Given the description of an element on the screen output the (x, y) to click on. 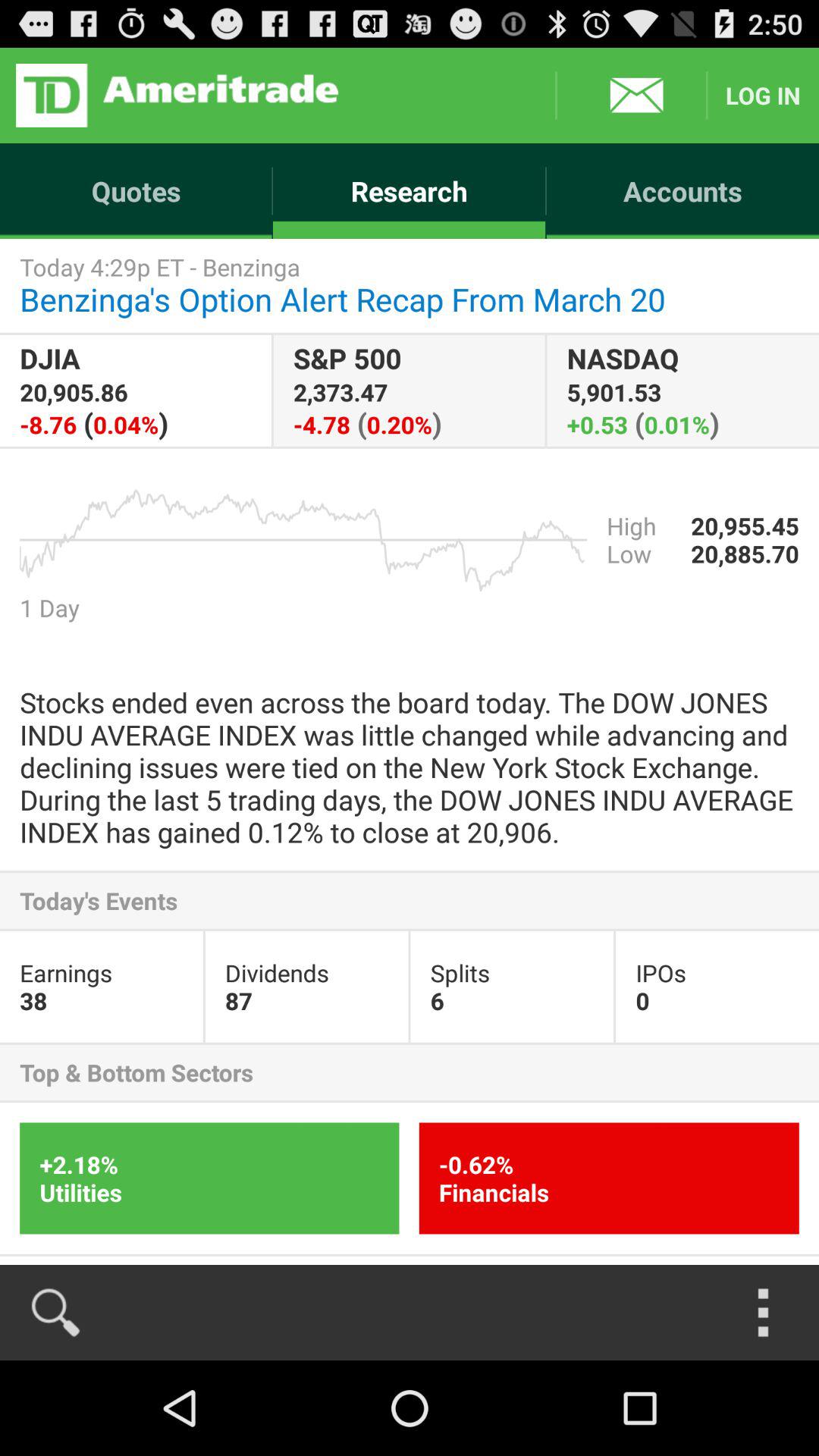
click app next to the research app (135, 190)
